Given the description of an element on the screen output the (x, y) to click on. 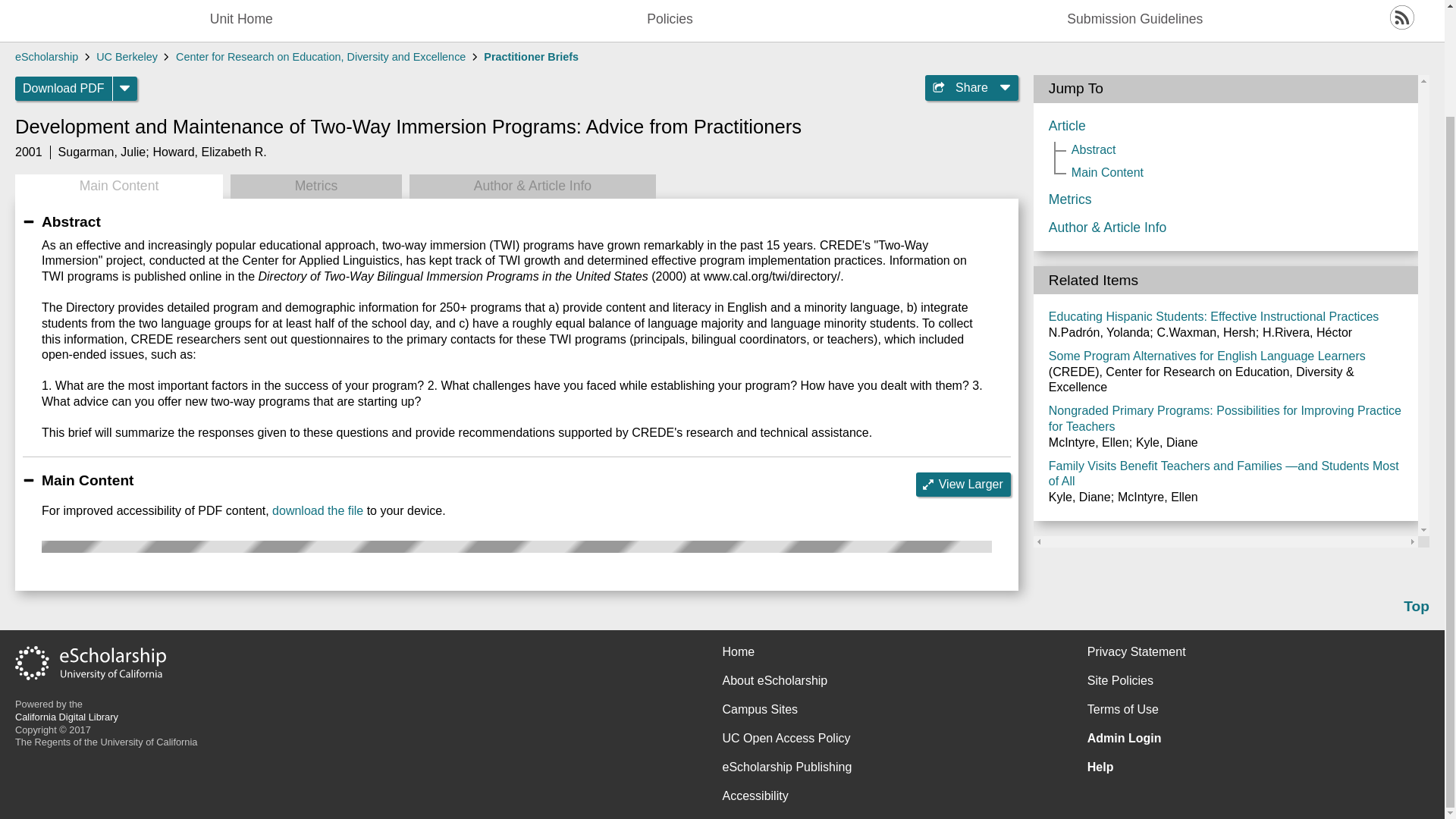
Submission Guidelines (1134, 19)
Howard, Elizabeth R. (209, 151)
Practitioner Briefs (530, 56)
eScholarship (46, 56)
View Larger (962, 484)
UC Berkeley (126, 56)
Center for Research on Education, Diversity and Excellence (320, 56)
Metrics (315, 186)
Policies (669, 19)
Download PDF (63, 88)
Unit Home (241, 19)
Sugarman, Julie (102, 151)
Main Content (118, 186)
download the file (317, 510)
